Given the description of an element on the screen output the (x, y) to click on. 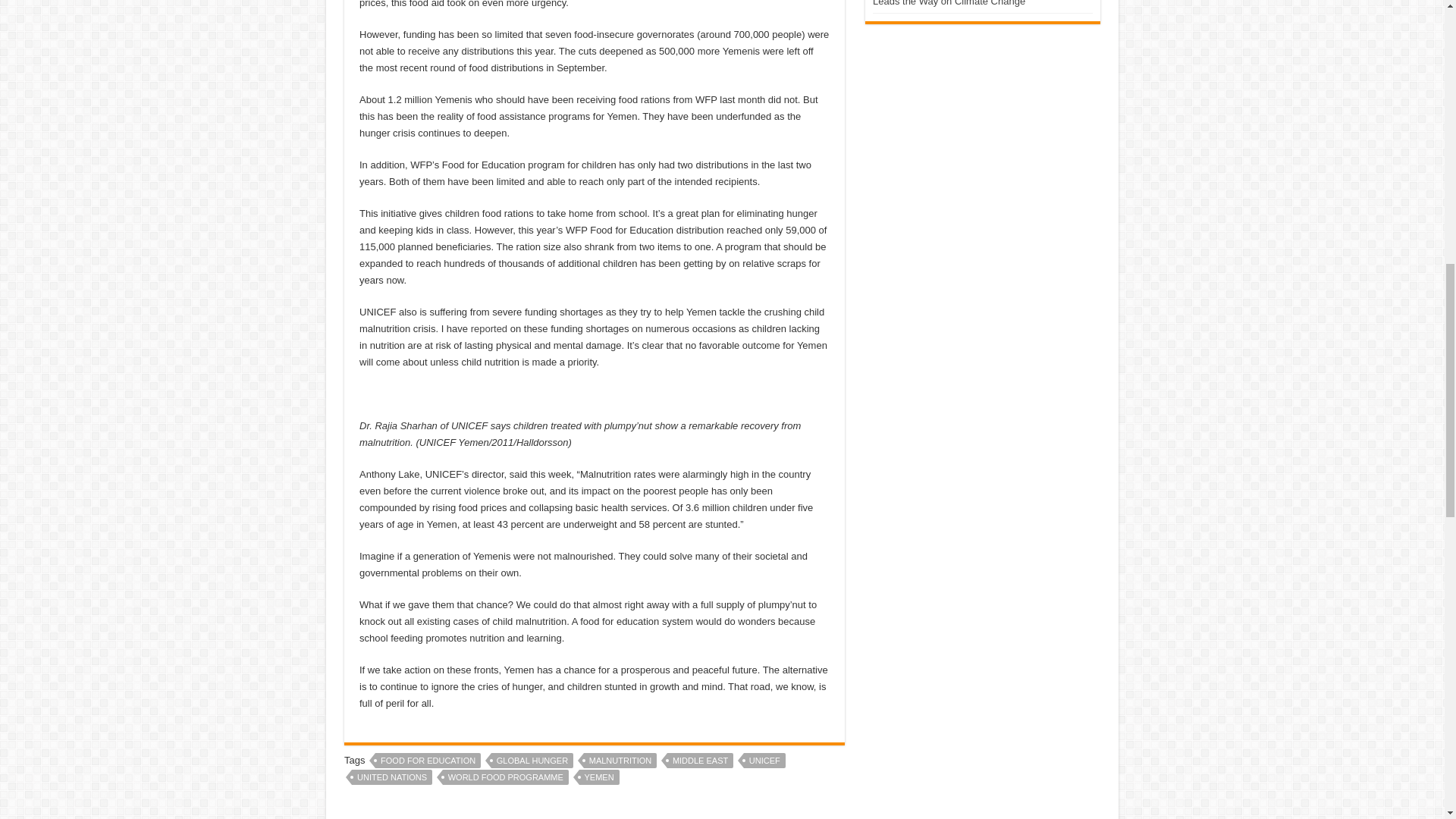
Scroll To Top (1421, 60)
